Given the description of an element on the screen output the (x, y) to click on. 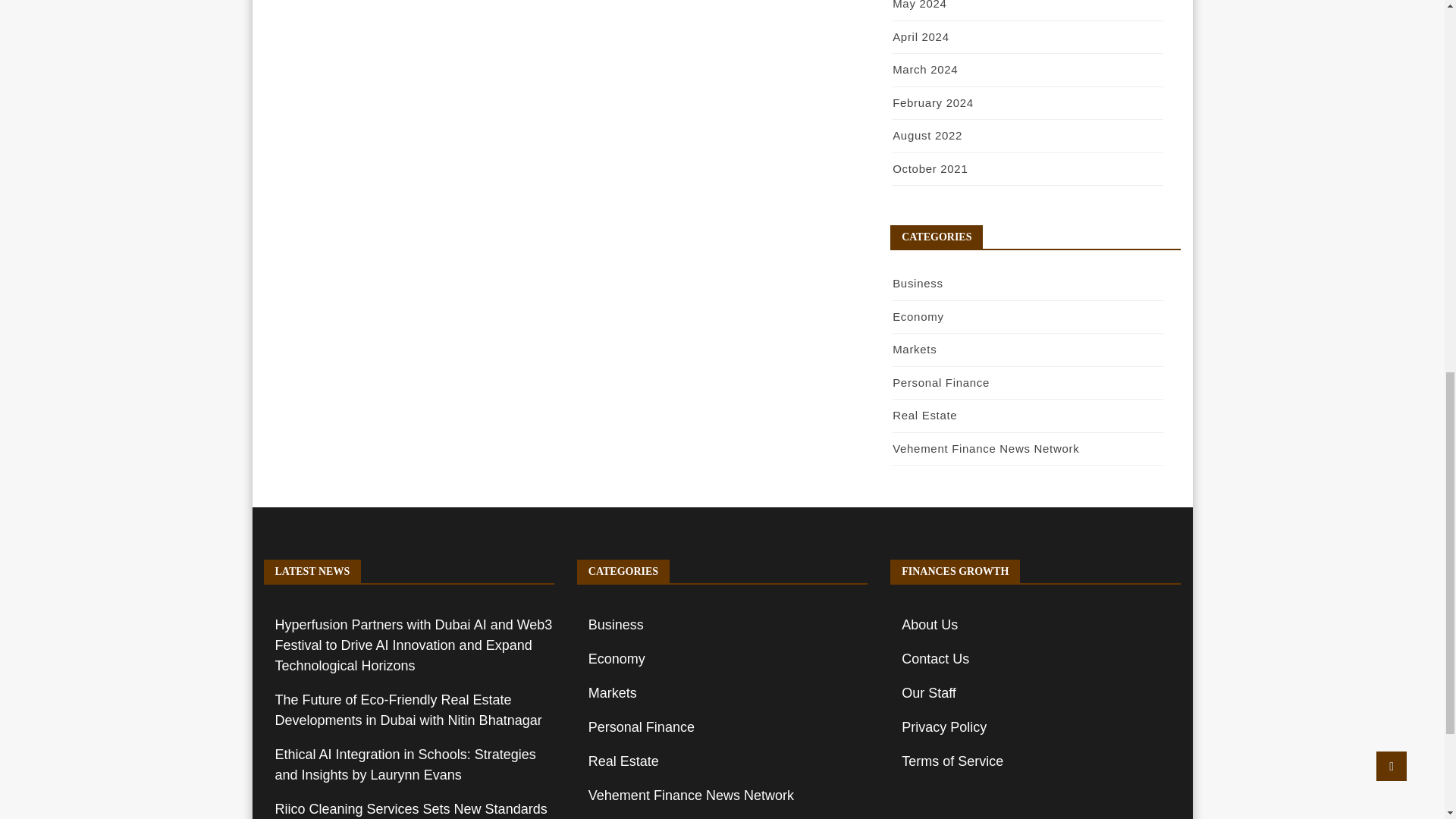
October 2021 (930, 168)
Business (917, 282)
August 2022 (927, 134)
February 2024 (933, 102)
May 2024 (919, 4)
April 2024 (920, 36)
March 2024 (925, 69)
